Given the description of an element on the screen output the (x, y) to click on. 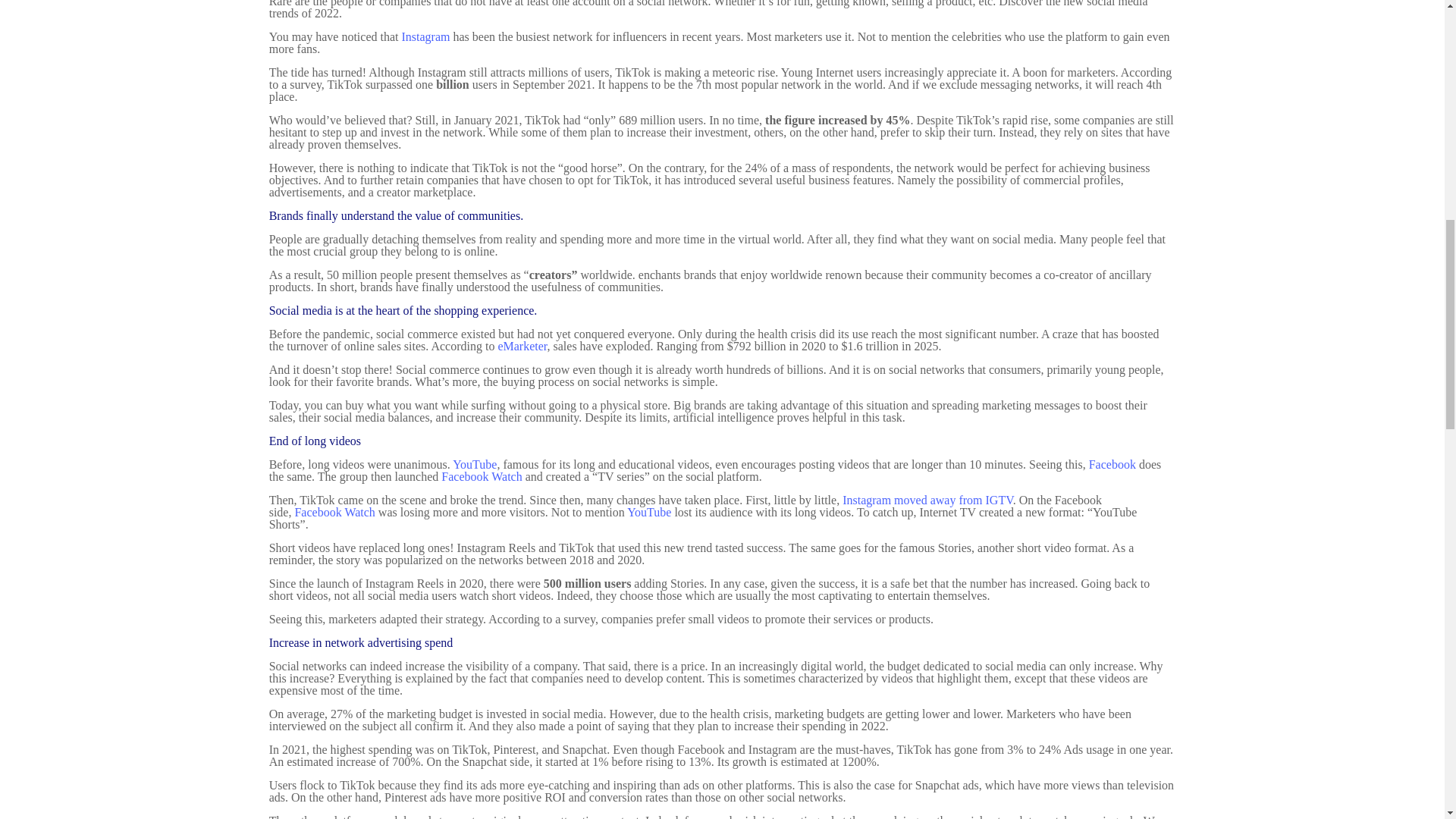
YouTube (474, 463)
Facebook Watch (334, 512)
eMarketer (522, 345)
Instagram moved away from IGTV (928, 499)
YouTube (649, 512)
Instagram (425, 36)
Facebook Watch (481, 476)
Facebook (1112, 463)
